Given the description of an element on the screen output the (x, y) to click on. 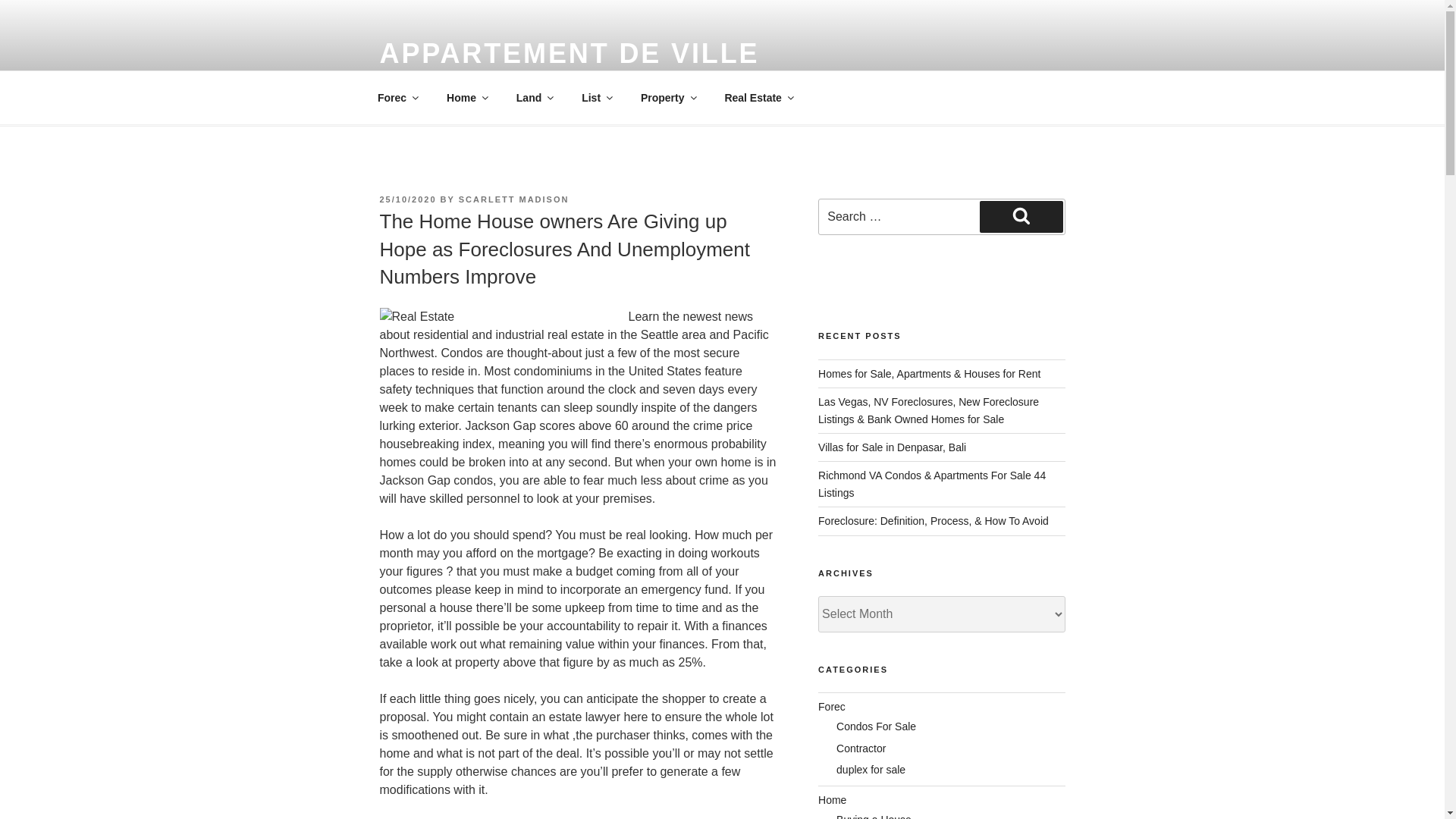
APPARTEMENT DE VILLE (568, 52)
List (596, 97)
Property (667, 97)
SCARLETT MADISON (513, 198)
Home (466, 97)
Real Estate (758, 97)
Land (533, 97)
Forec (396, 97)
